Given the description of an element on the screen output the (x, y) to click on. 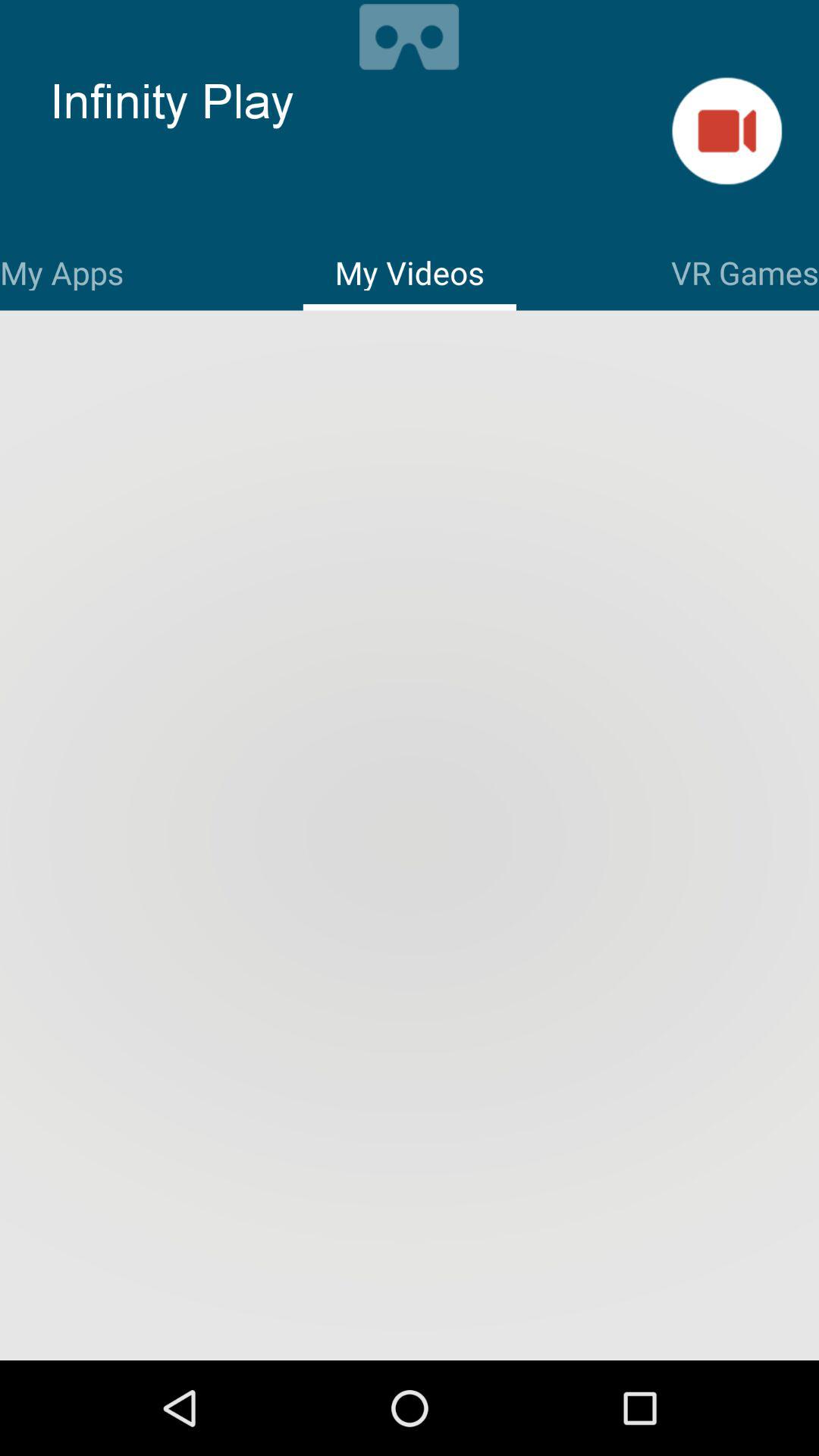
launch the my apps icon (61, 270)
